Given the description of an element on the screen output the (x, y) to click on. 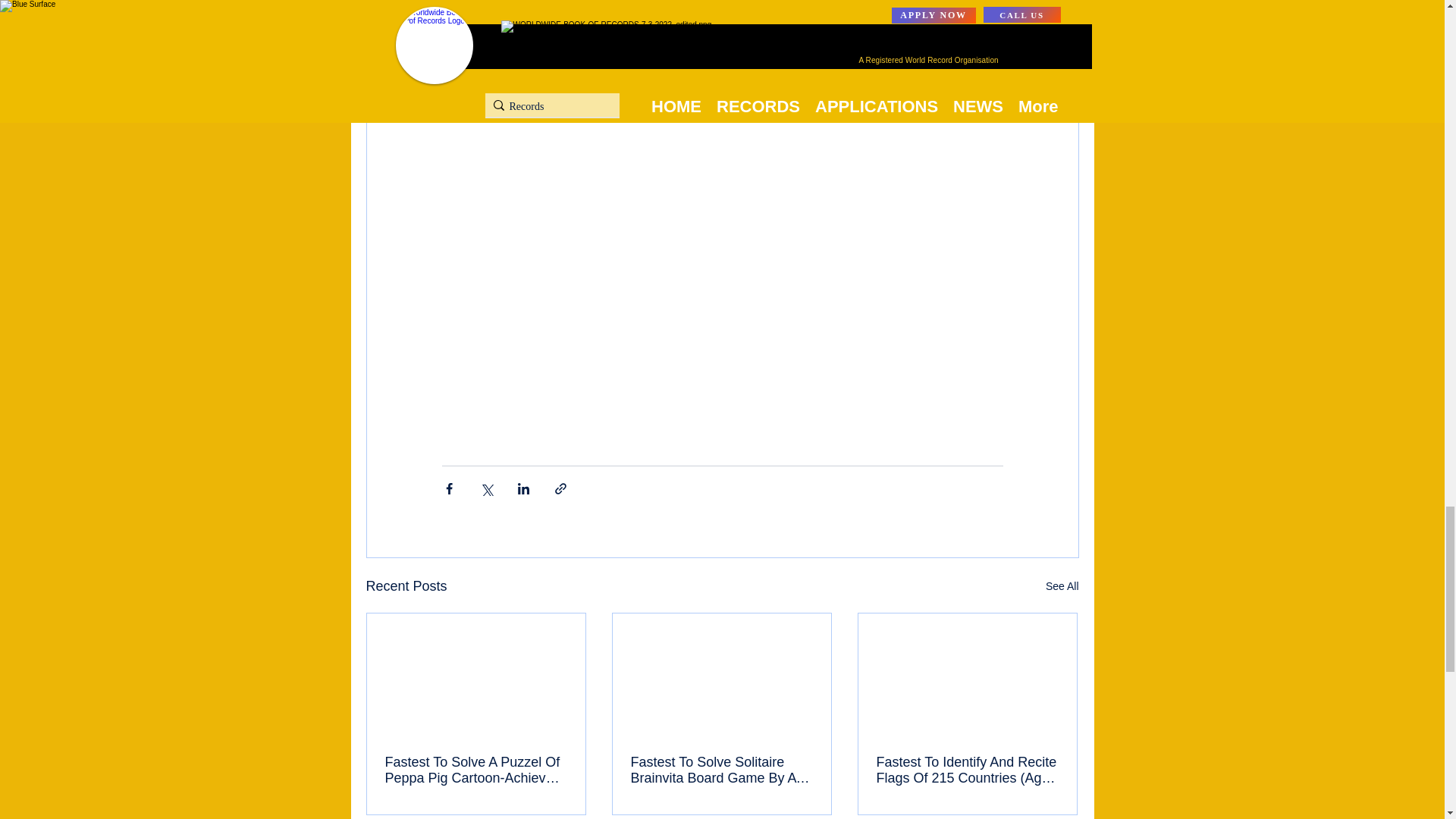
See All (1061, 586)
